Given the description of an element on the screen output the (x, y) to click on. 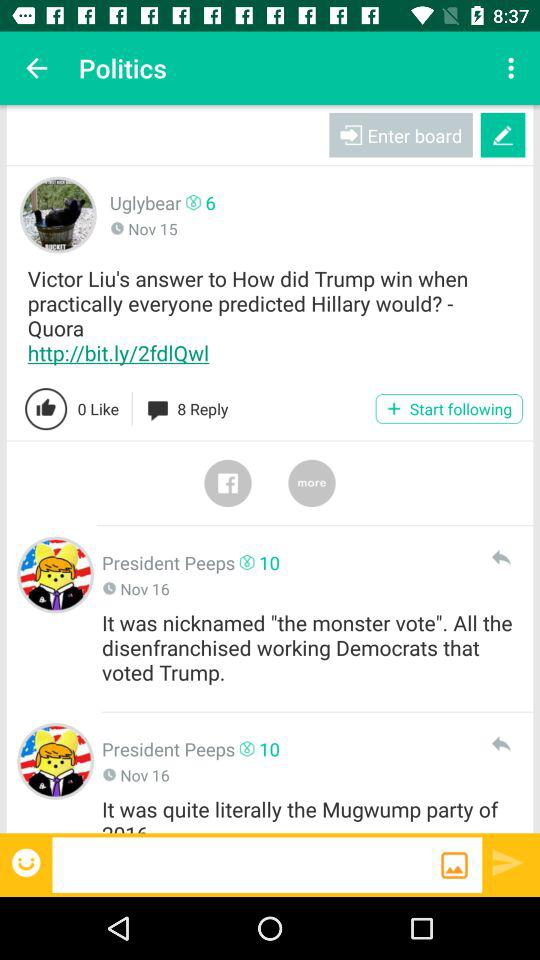
link to facebook (228, 483)
